Given the description of an element on the screen output the (x, y) to click on. 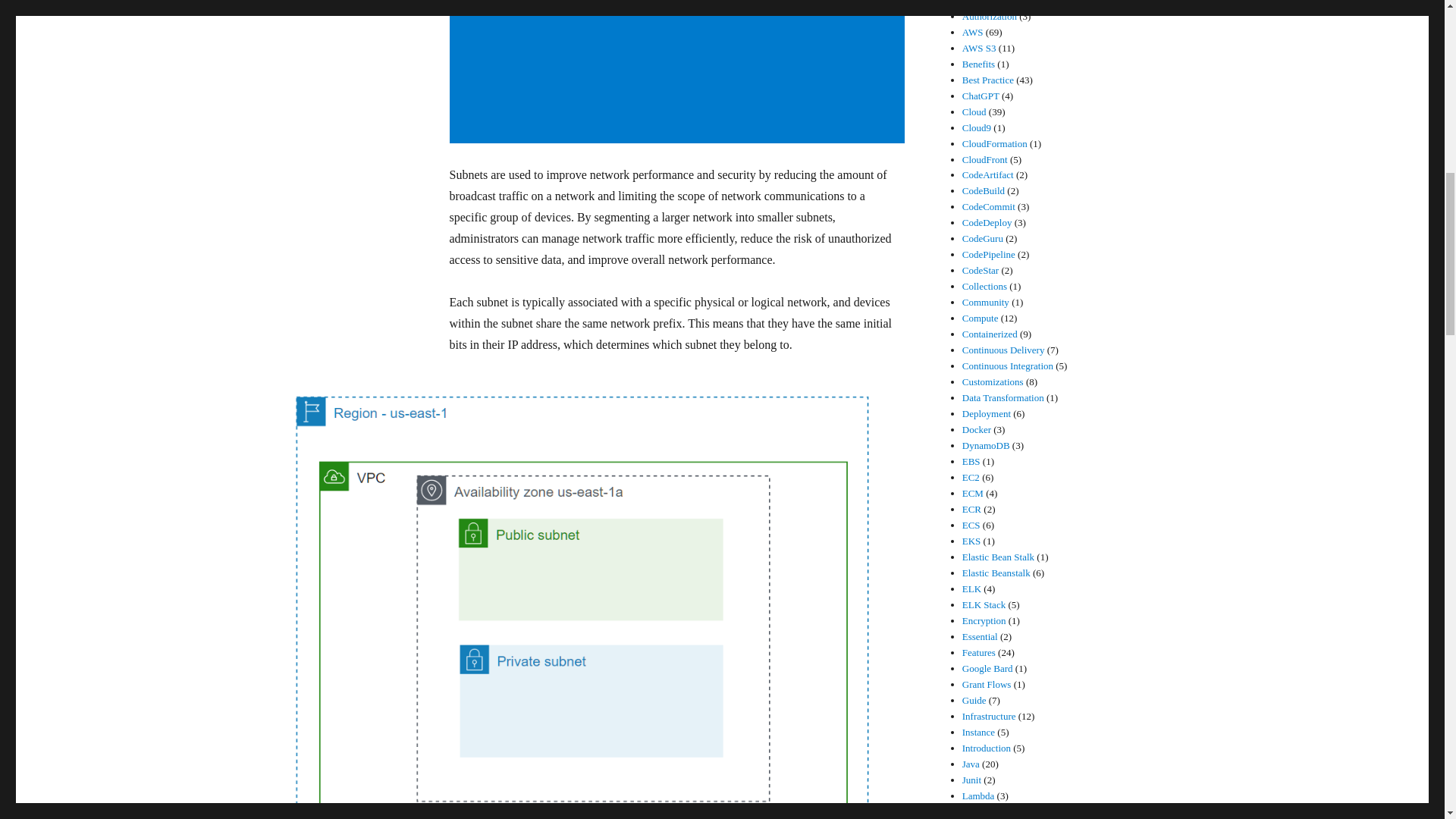
Advertisement (679, 72)
AWS S3 (978, 48)
AWS (973, 31)
Benefits (978, 63)
Authorization (989, 16)
Best Practice (987, 79)
Authentication (991, 2)
